Given the description of an element on the screen output the (x, y) to click on. 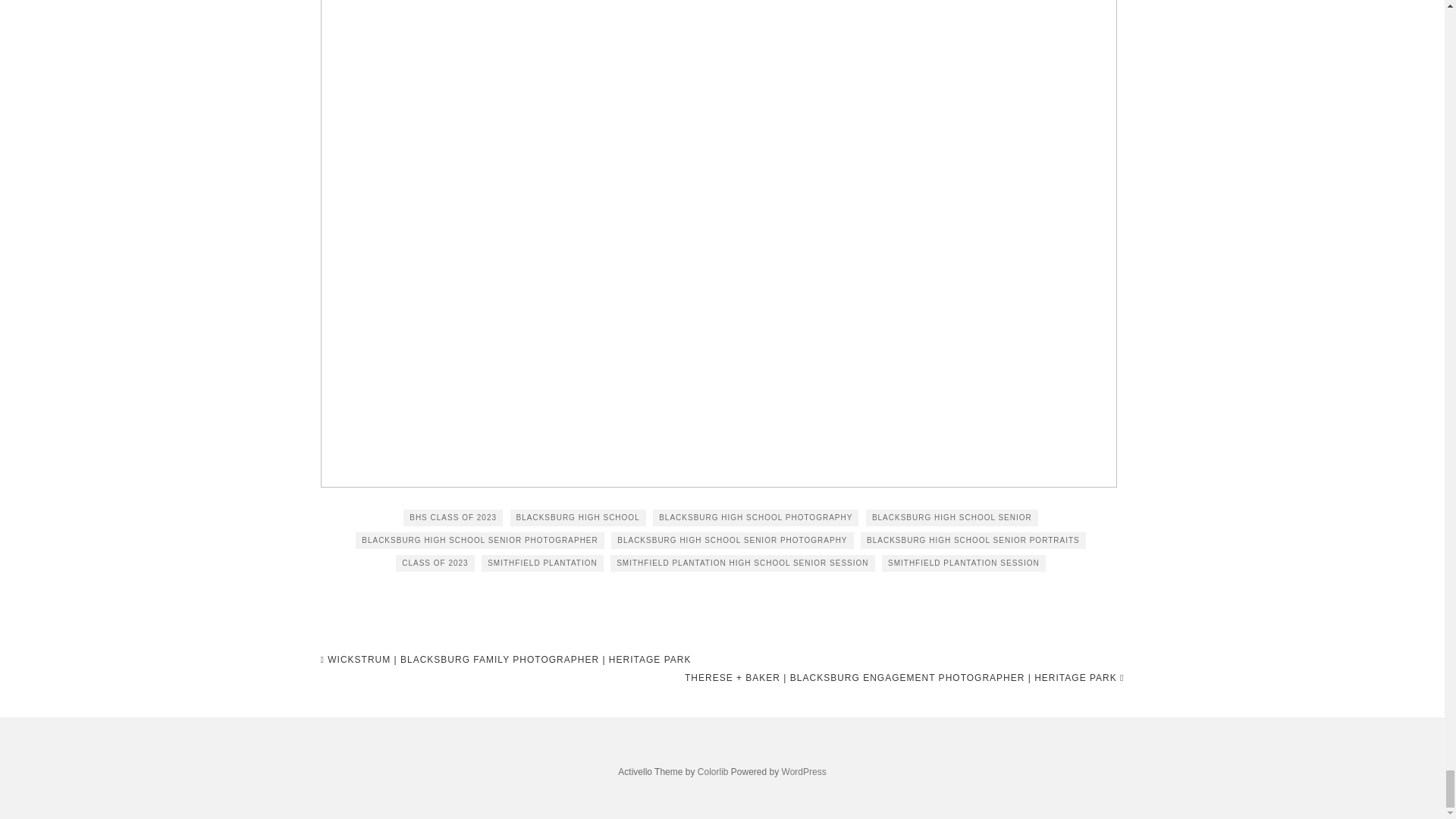
Colorlib (713, 771)
BLACKSBURG HIGH SCHOOL (578, 517)
SMITHFIELD PLANTATION HIGH SCHOOL SENIOR SESSION (742, 563)
BHS CLASS OF 2023 (452, 517)
BLACKSBURG HIGH SCHOOL SENIOR (952, 517)
CLASS OF 2023 (435, 563)
BLACKSBURG HIGH SCHOOL PHOTOGRAPHY (755, 517)
SMITHFIELD PLANTATION (542, 563)
SMITHFIELD PLANTATION SESSION (963, 563)
WordPress (804, 771)
